Given the description of an element on the screen output the (x, y) to click on. 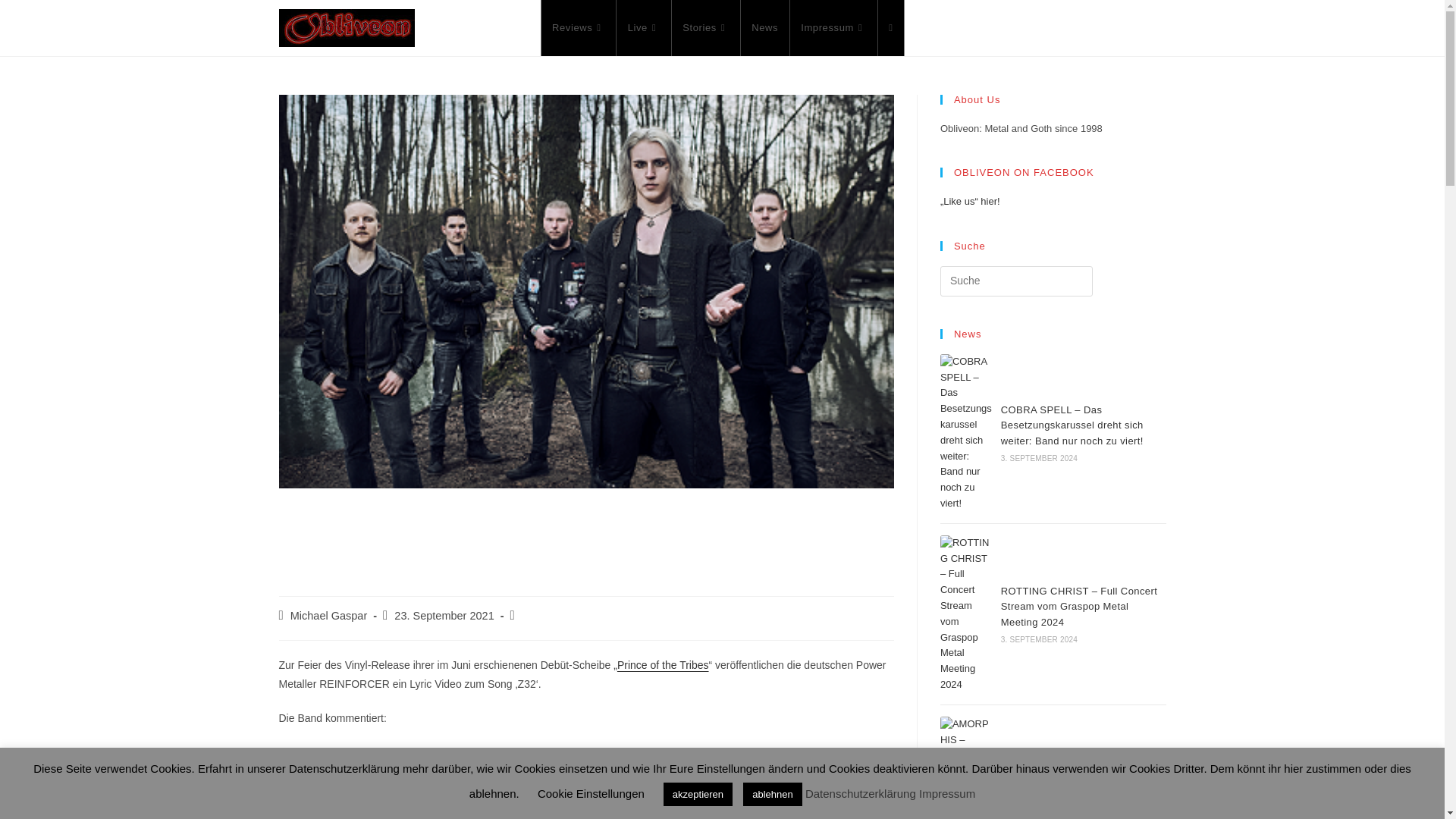
Reviews (577, 28)
Impressum (833, 28)
Live (643, 28)
Michael Gaspar (328, 615)
Stories (705, 28)
